Given the description of an element on the screen output the (x, y) to click on. 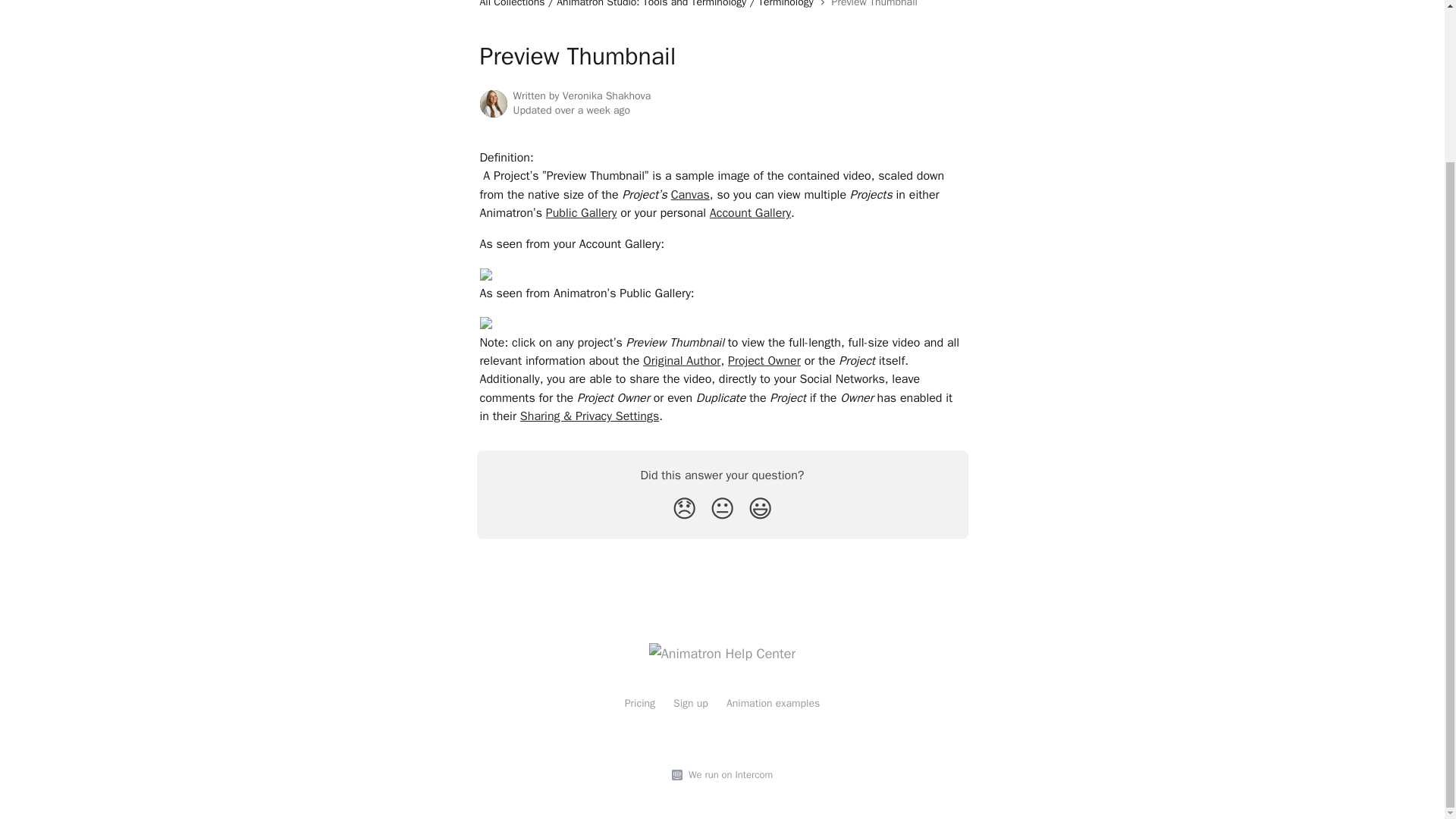
Sign up (689, 703)
Account Gallery (750, 212)
Original Author (681, 360)
Animation examples (772, 703)
Project Owner (764, 360)
Canvas (690, 194)
Pricing (639, 703)
Public Gallery (581, 212)
We run on Intercom (727, 774)
